Given the description of an element on the screen output the (x, y) to click on. 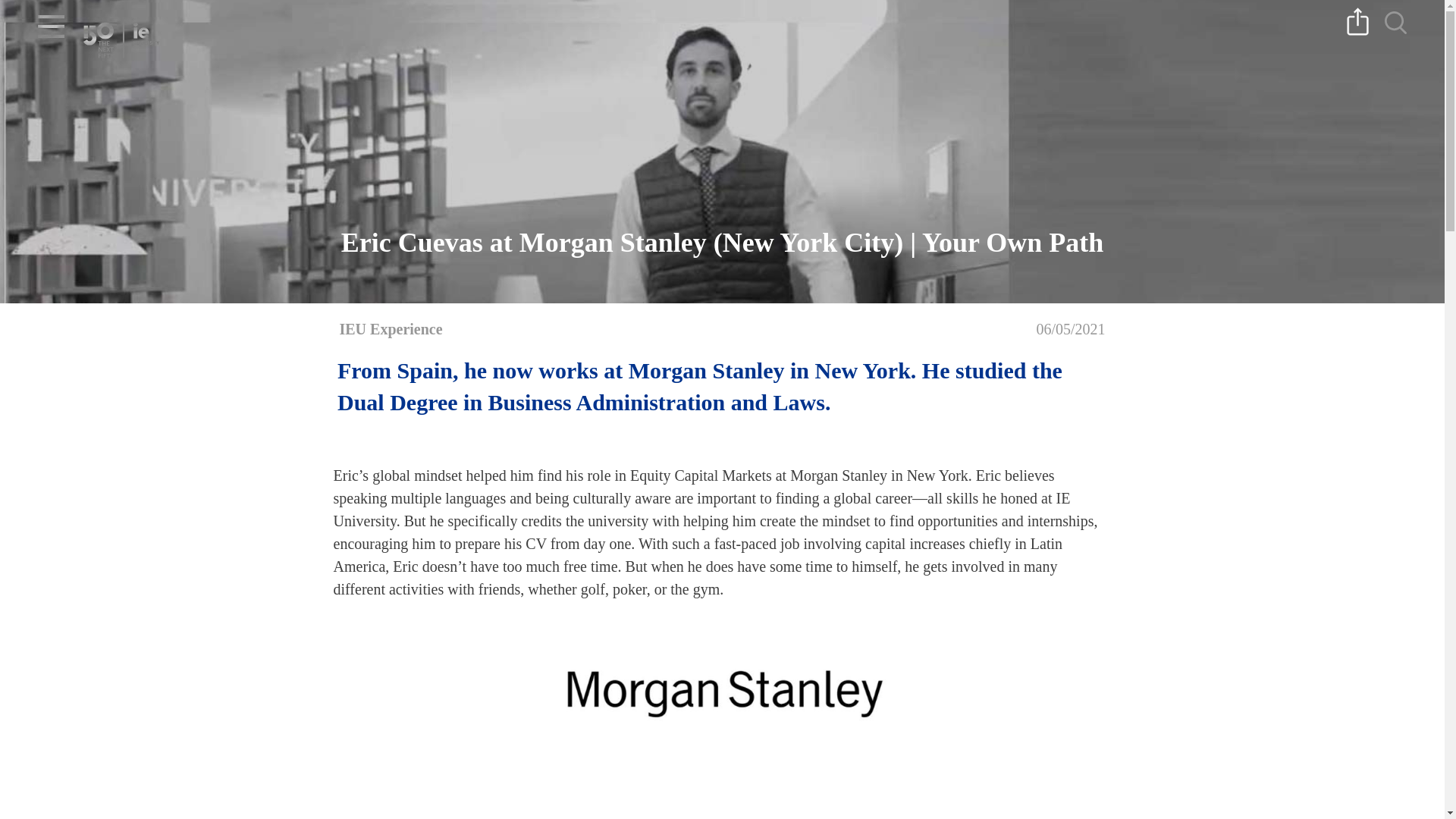
IEU Experience (390, 329)
